Given the description of an element on the screen output the (x, y) to click on. 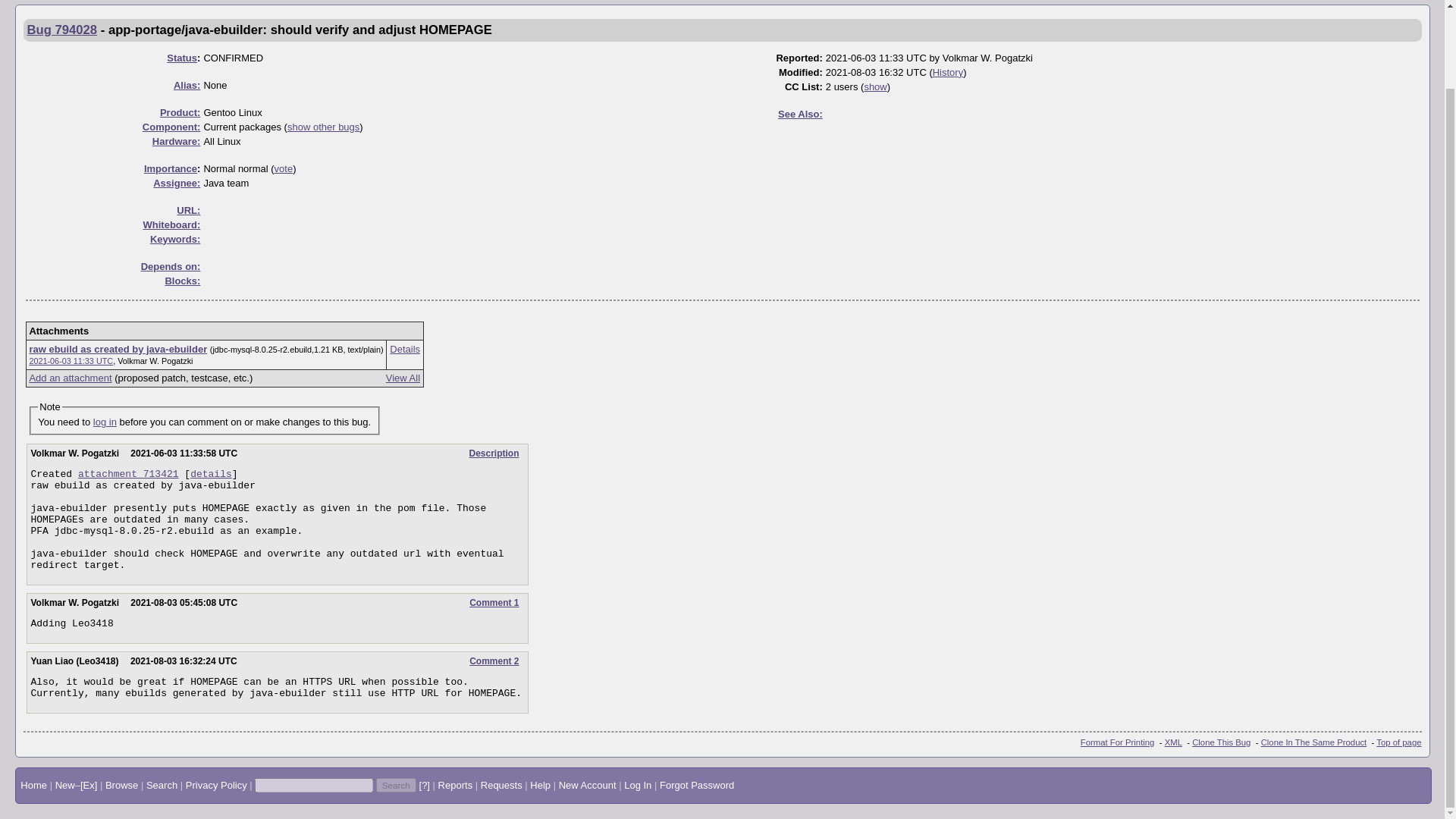
vote (284, 167)
Search (395, 785)
show other bugs (322, 126)
Status (181, 57)
Product: (180, 111)
View the content of the attachment (117, 348)
Bug 794028 (62, 29)
Assignee: (176, 183)
The person in charge of resolving the bug. (176, 183)
Alias: (186, 84)
